Given the description of an element on the screen output the (x, y) to click on. 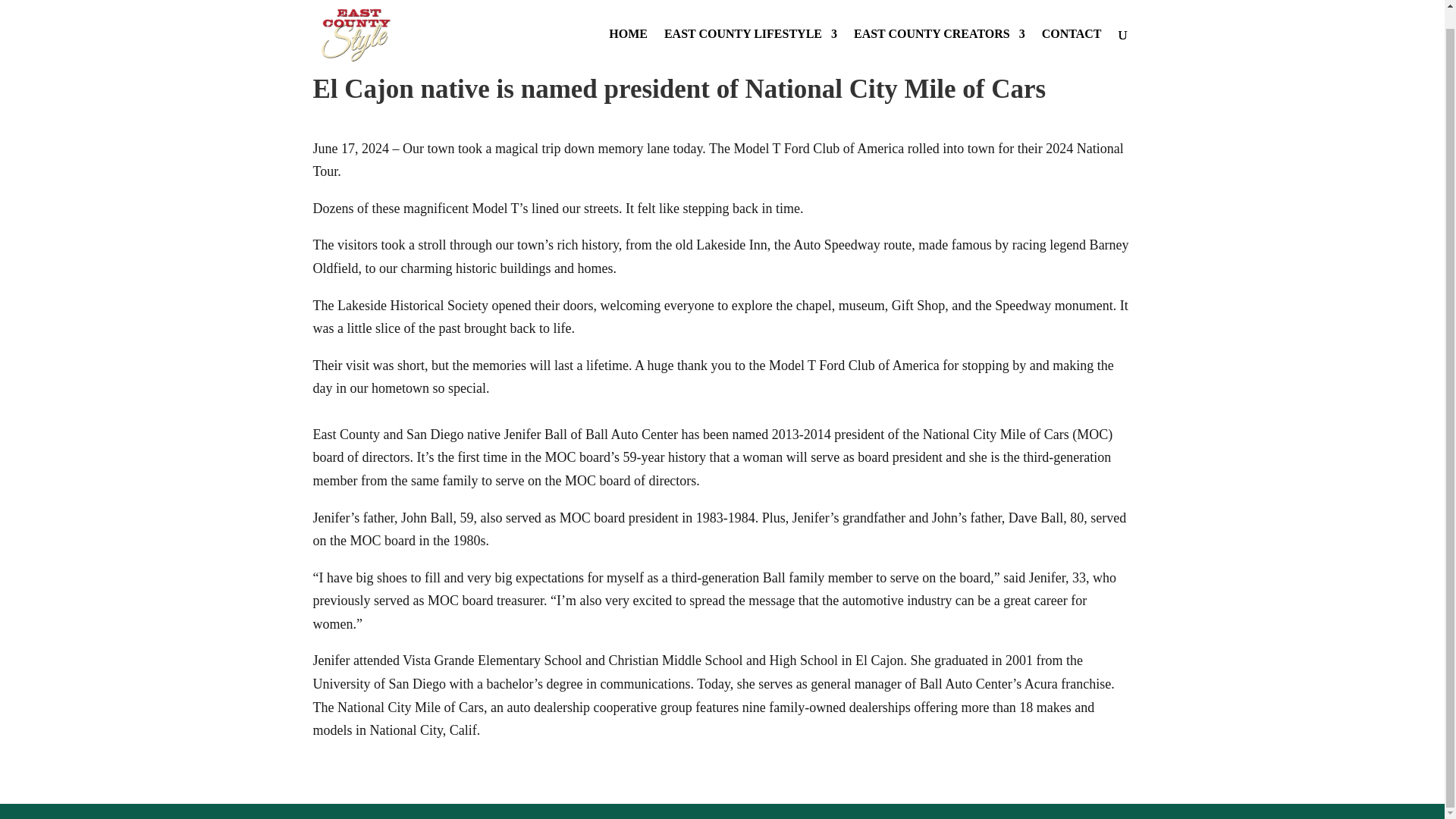
EAST COUNTY LIFESTYLE (750, 29)
EAST COUNTY CREATORS (939, 29)
HOME (627, 29)
CONTACT (1072, 29)
